Given the description of an element on the screen output the (x, y) to click on. 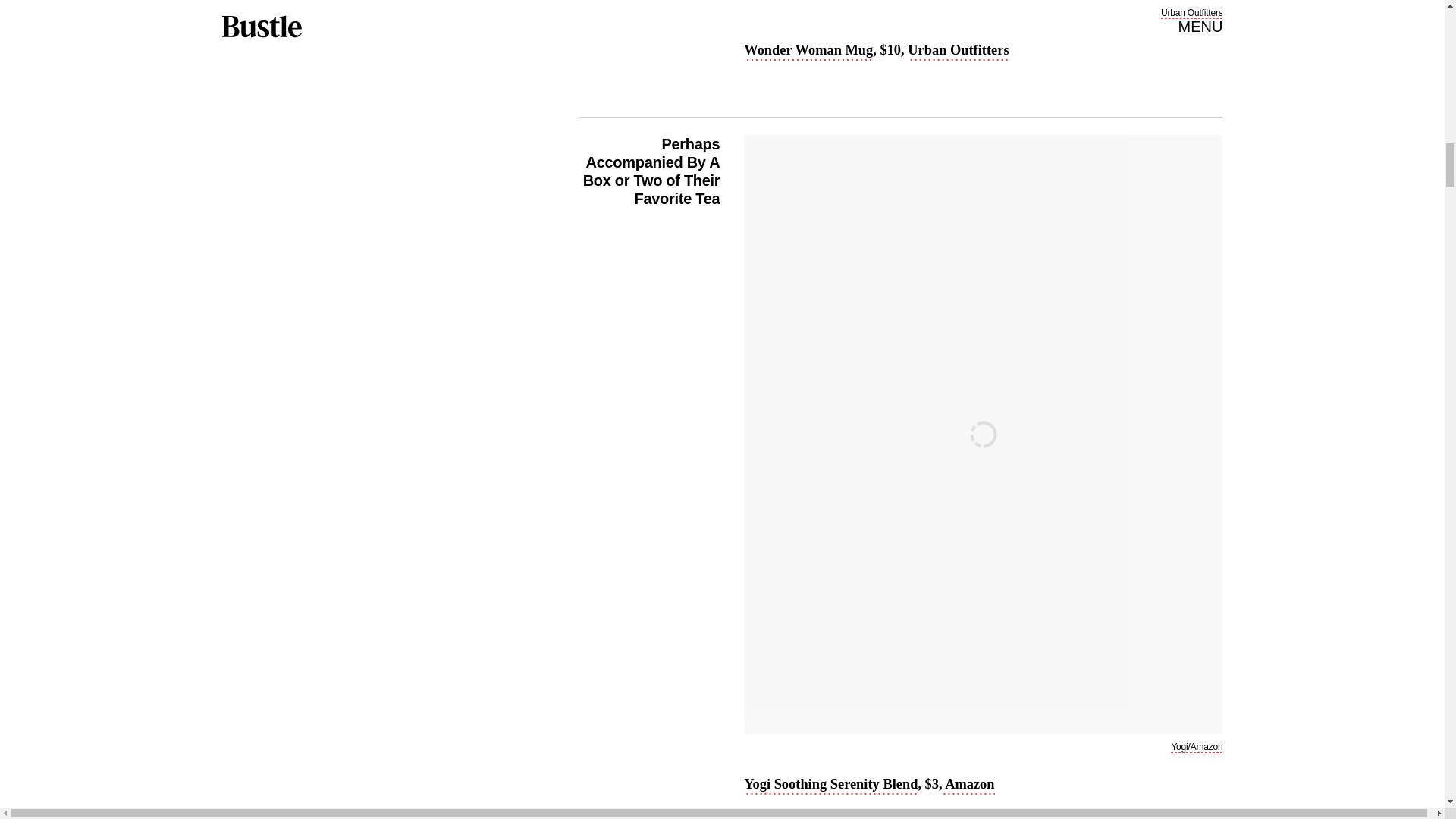
Urban Outfitters (958, 51)
Wonder Woman Mug (808, 51)
Amazon (968, 785)
Yogi Soothing Serenity Blend (830, 785)
Urban Outfitters (1191, 12)
